Given the description of an element on the screen output the (x, y) to click on. 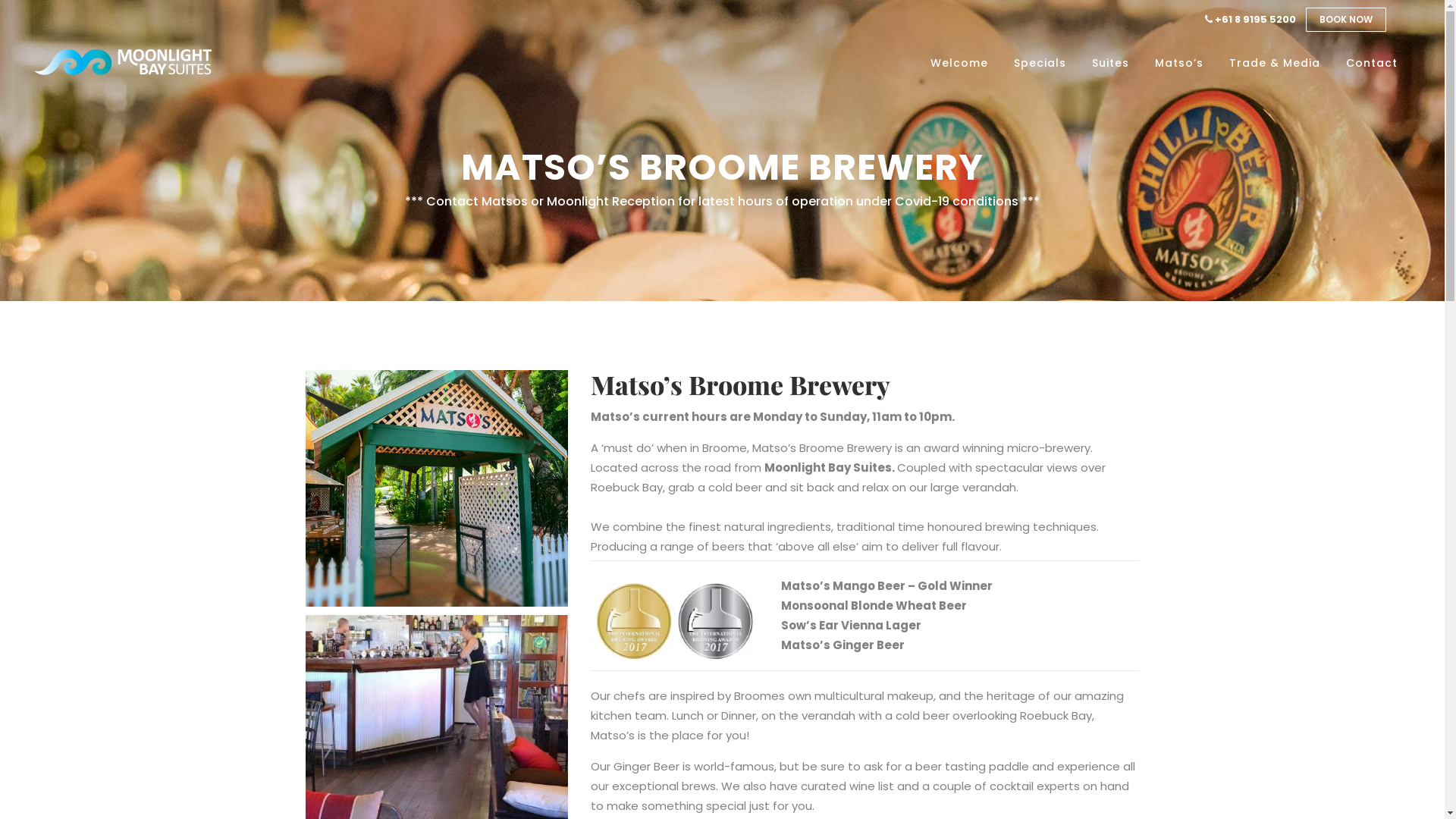
Moonlight Bay Suites. Element type: text (830, 467)
Suites Element type: text (1110, 62)
matsos Element type: hover (435, 488)
BOOK NOW Element type: text (1345, 19)
medals Element type: hover (674, 621)
+61 8 9195 5200 Element type: text (1249, 19)
Specials Element type: text (1040, 62)
Contact Element type: text (1371, 62)
Welcome Element type: text (959, 62)
Trade & Media Element type: text (1274, 62)
